Given the description of an element on the screen output the (x, y) to click on. 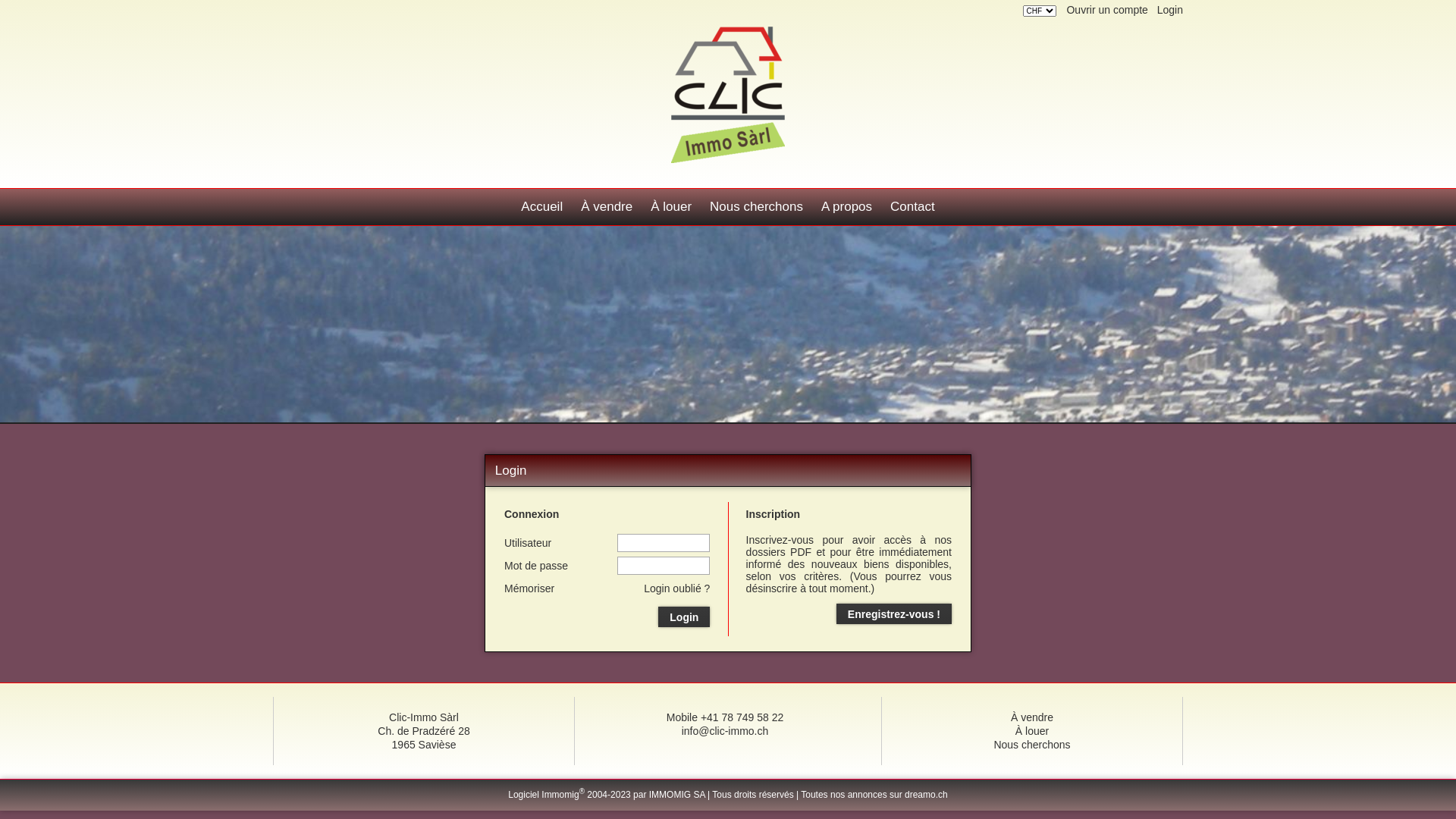
Nous cherchons Element type: text (1031, 744)
submit Element type: text (17, 7)
Nous cherchons Element type: text (756, 206)
A propos Element type: text (846, 206)
Enregistrez-vous ! Element type: text (893, 613)
Ouvrir un compte Element type: text (1106, 9)
dreamo.ch Element type: text (925, 793)
Login Element type: text (1170, 9)
Login Element type: text (683, 616)
Accueil Element type: text (541, 206)
info@clic-immo.ch Element type: text (724, 730)
+41 78 749 58 22 Element type: text (741, 717)
Contact Element type: text (912, 206)
